Given the description of an element on the screen output the (x, y) to click on. 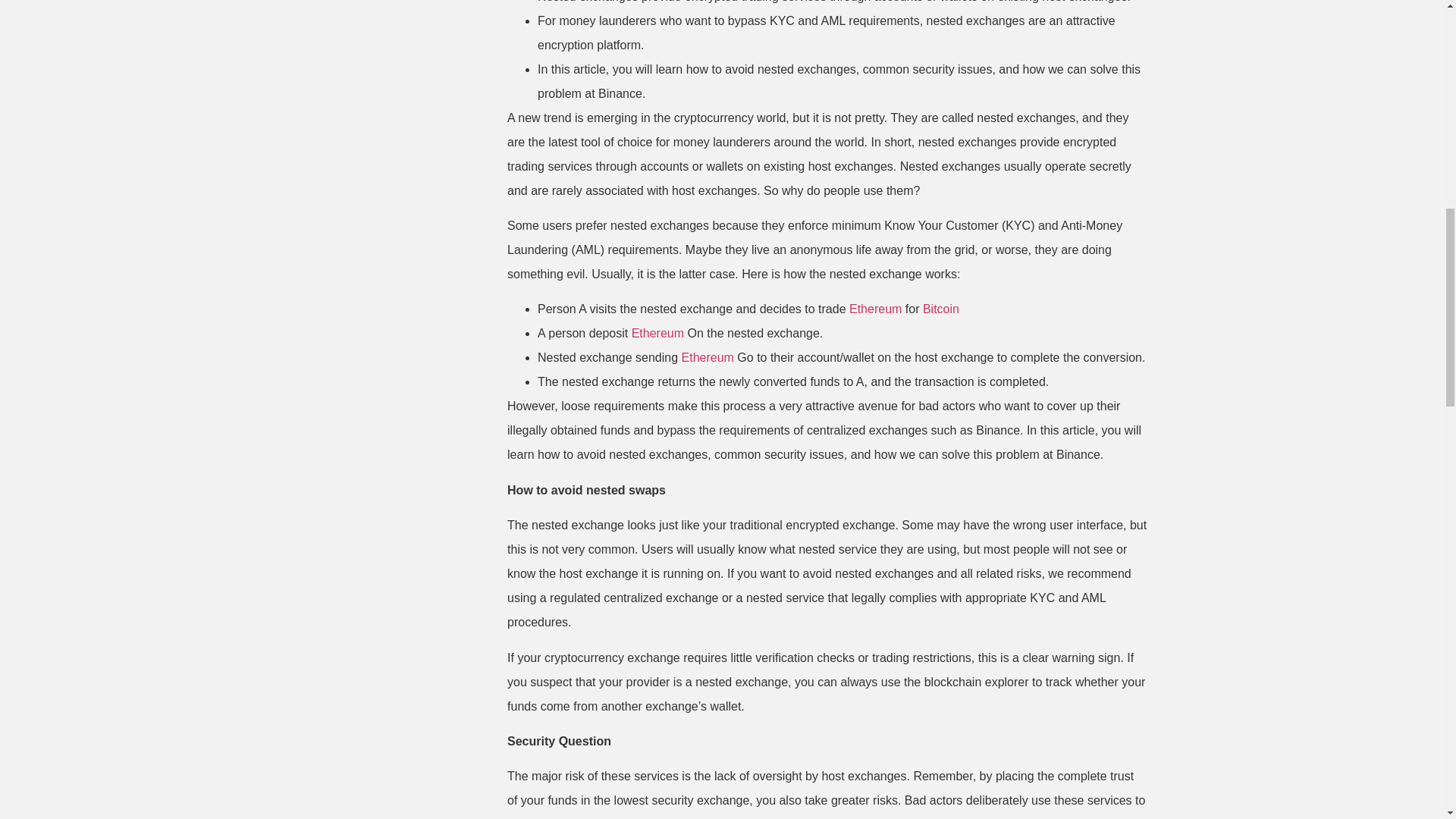
Ethereum (657, 332)
Ethereum (874, 308)
Bitcoin (941, 308)
Ethereum (707, 357)
